Given the description of an element on the screen output the (x, y) to click on. 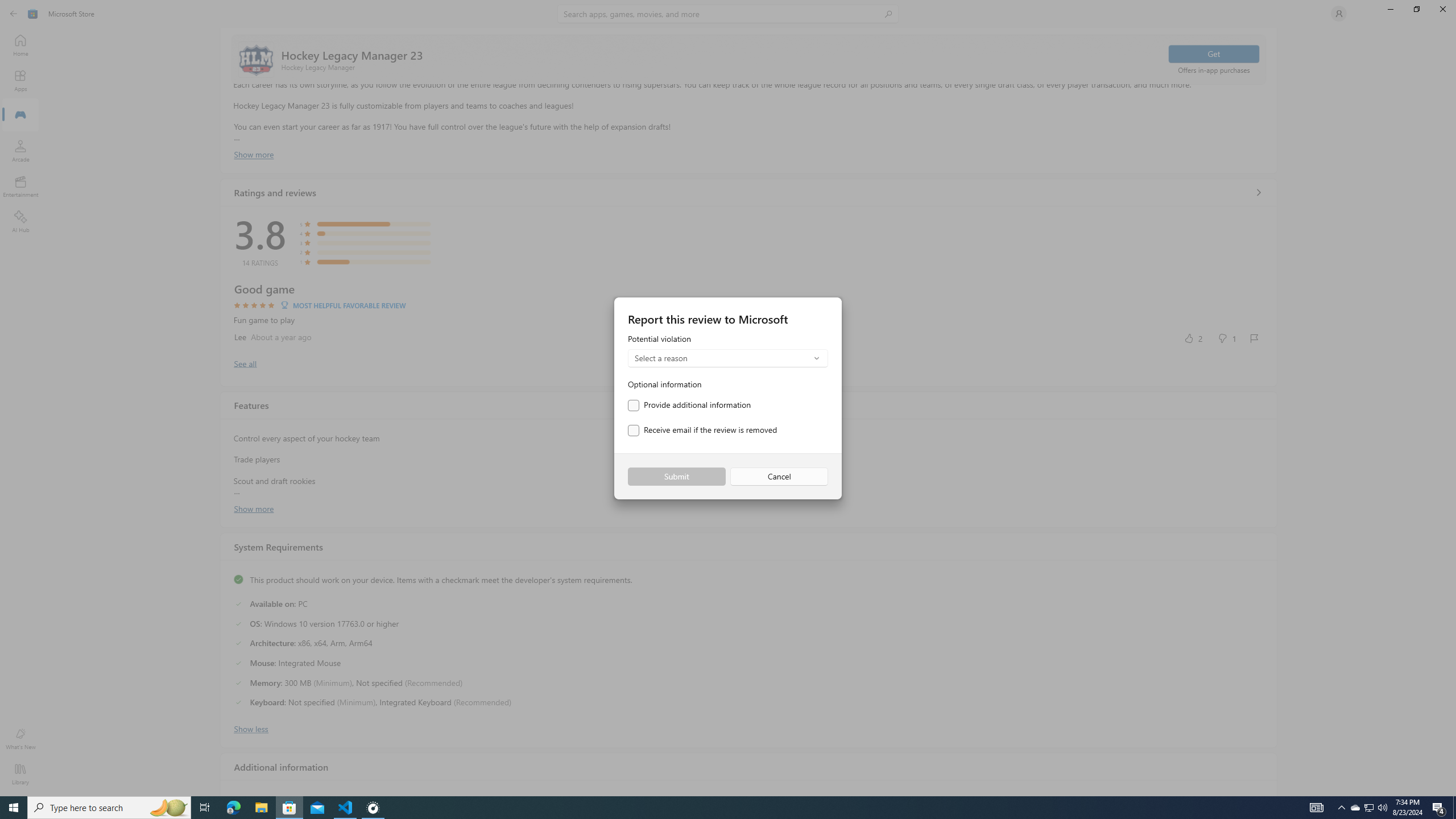
Submit (676, 476)
Provide additional information (689, 405)
Search (727, 13)
Show all ratings and reviews (244, 362)
Back (13, 13)
Potential violation (727, 351)
Scroll to top (748, 59)
Cancel (779, 476)
